Given the description of an element on the screen output the (x, y) to click on. 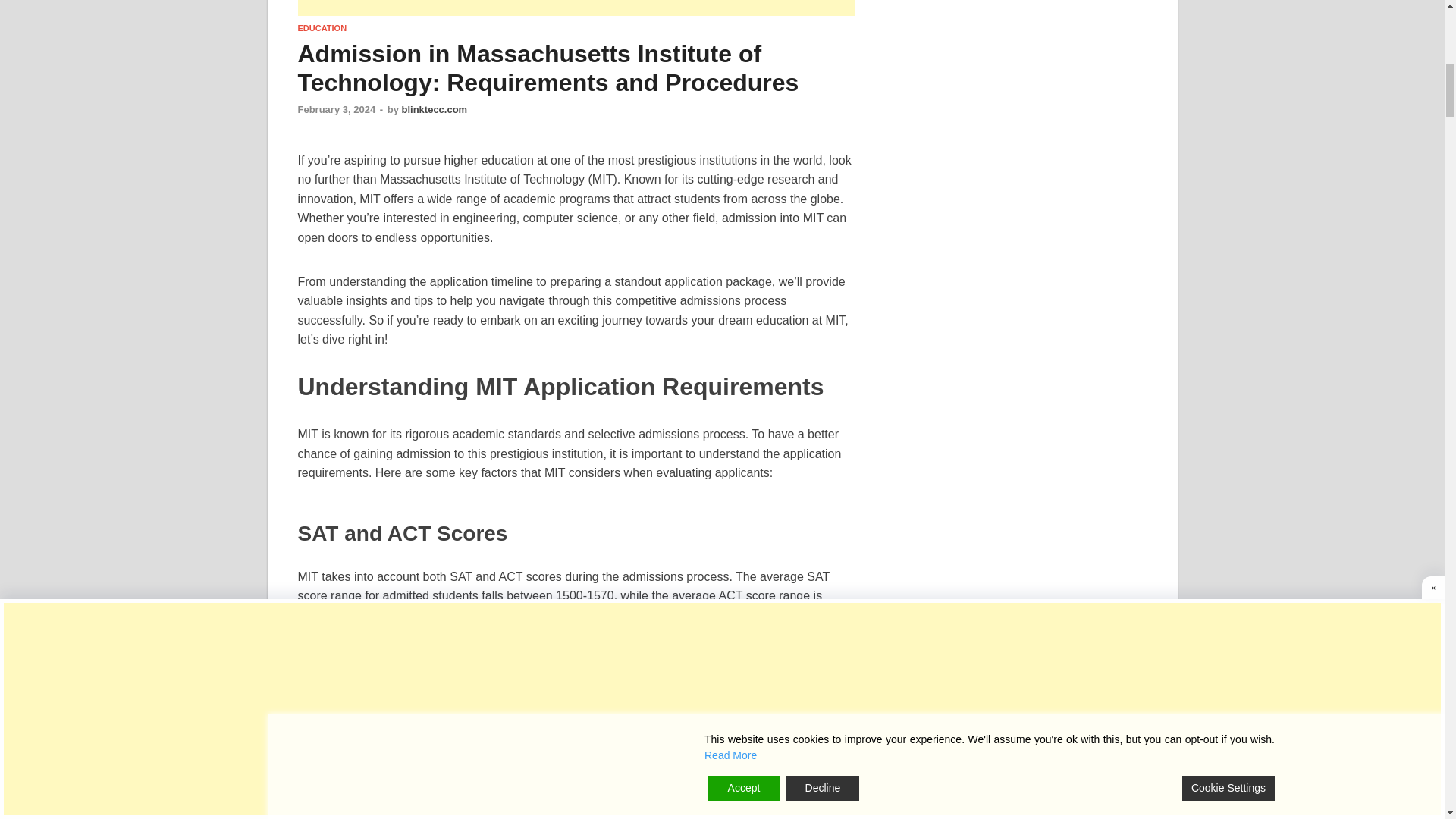
blinktecc.com (434, 109)
Advertisement (575, 7)
EDUCATION (321, 27)
February 3, 2024 (336, 109)
